Given the description of an element on the screen output the (x, y) to click on. 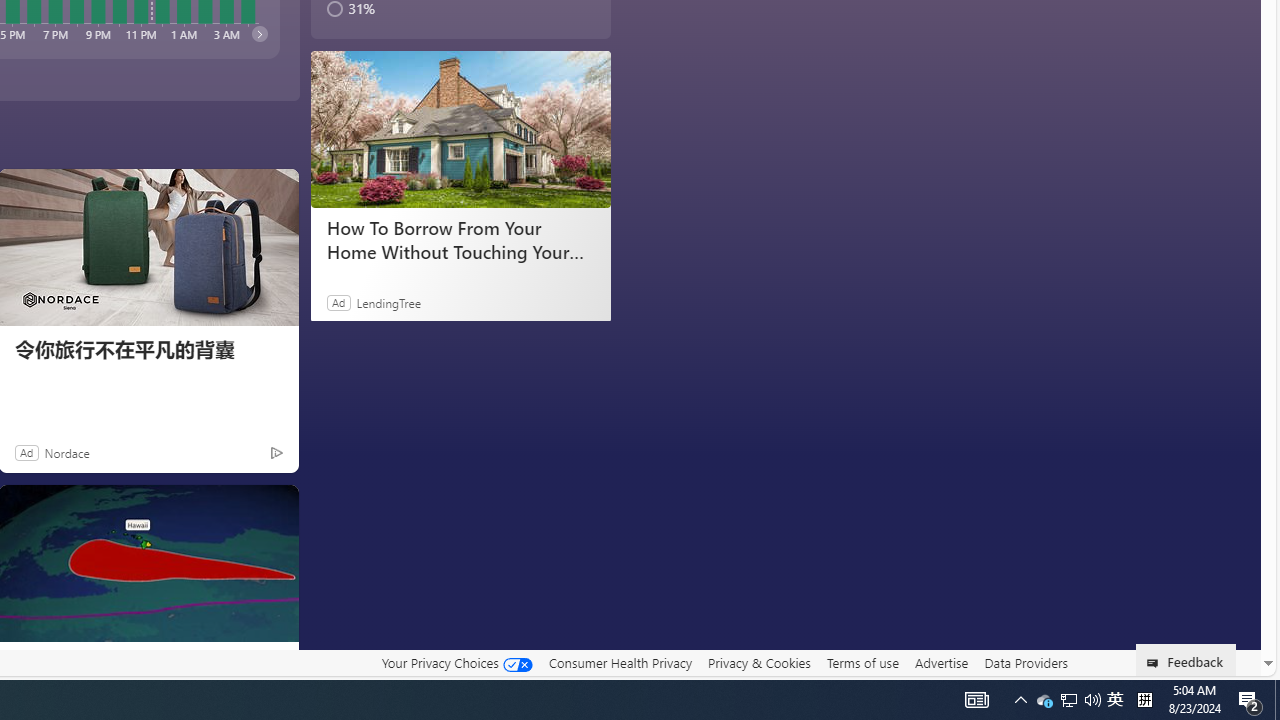
Consumer Health Privacy (619, 663)
Terms of use (861, 663)
The Weather Channel (22, 661)
LendingTree (388, 302)
Terms of use (861, 662)
next (258, 33)
How To Borrow From Your Home Without Touching Your Mortgage (459, 129)
Nordace (66, 452)
Data Providers (1025, 663)
Ad Choice (276, 452)
Your Privacy Choices (456, 662)
See more (274, 508)
Data Providers (1025, 662)
Privacy & Cookies (759, 662)
